Given the description of an element on the screen output the (x, y) to click on. 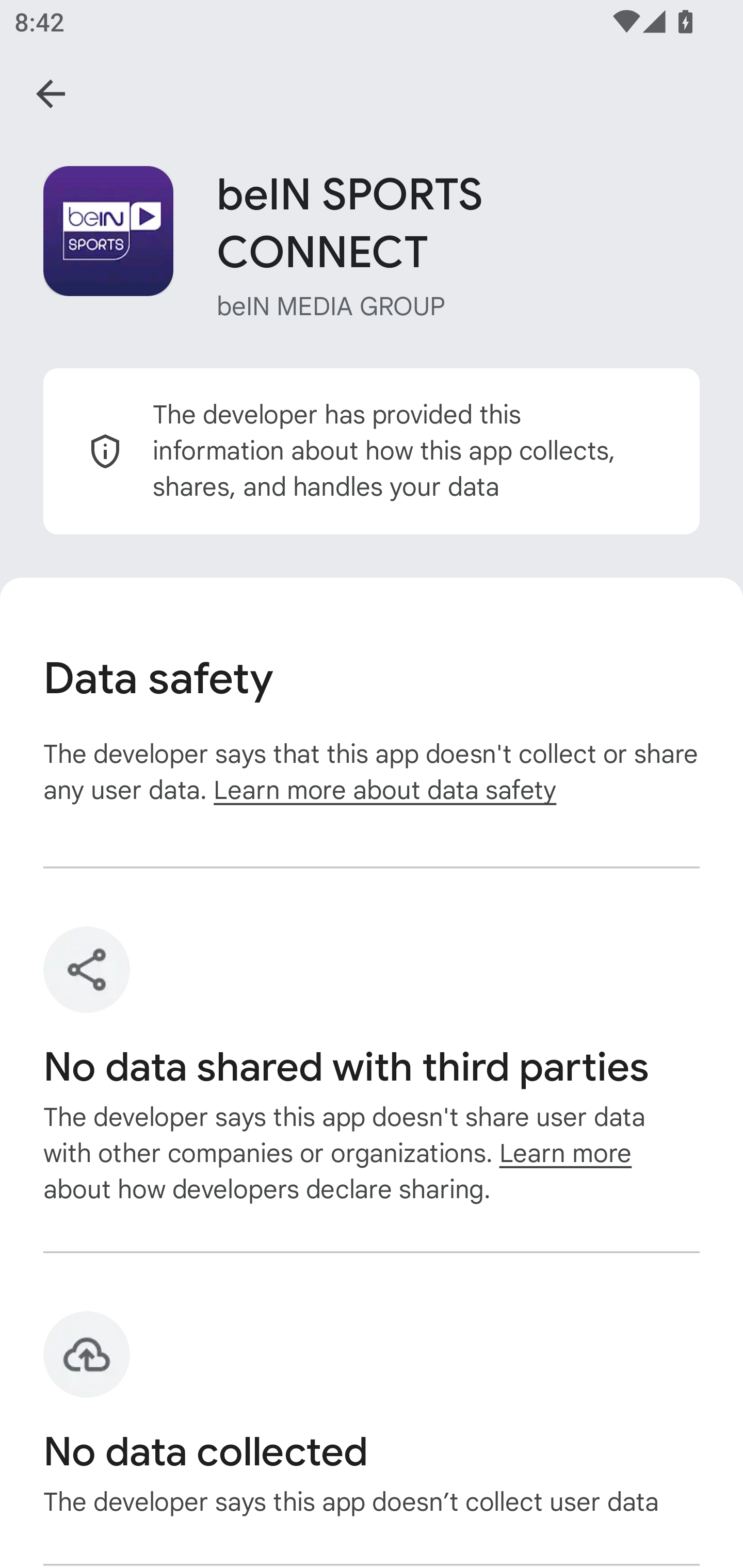
Navigate up (50, 93)
